Given the description of an element on the screen output the (x, y) to click on. 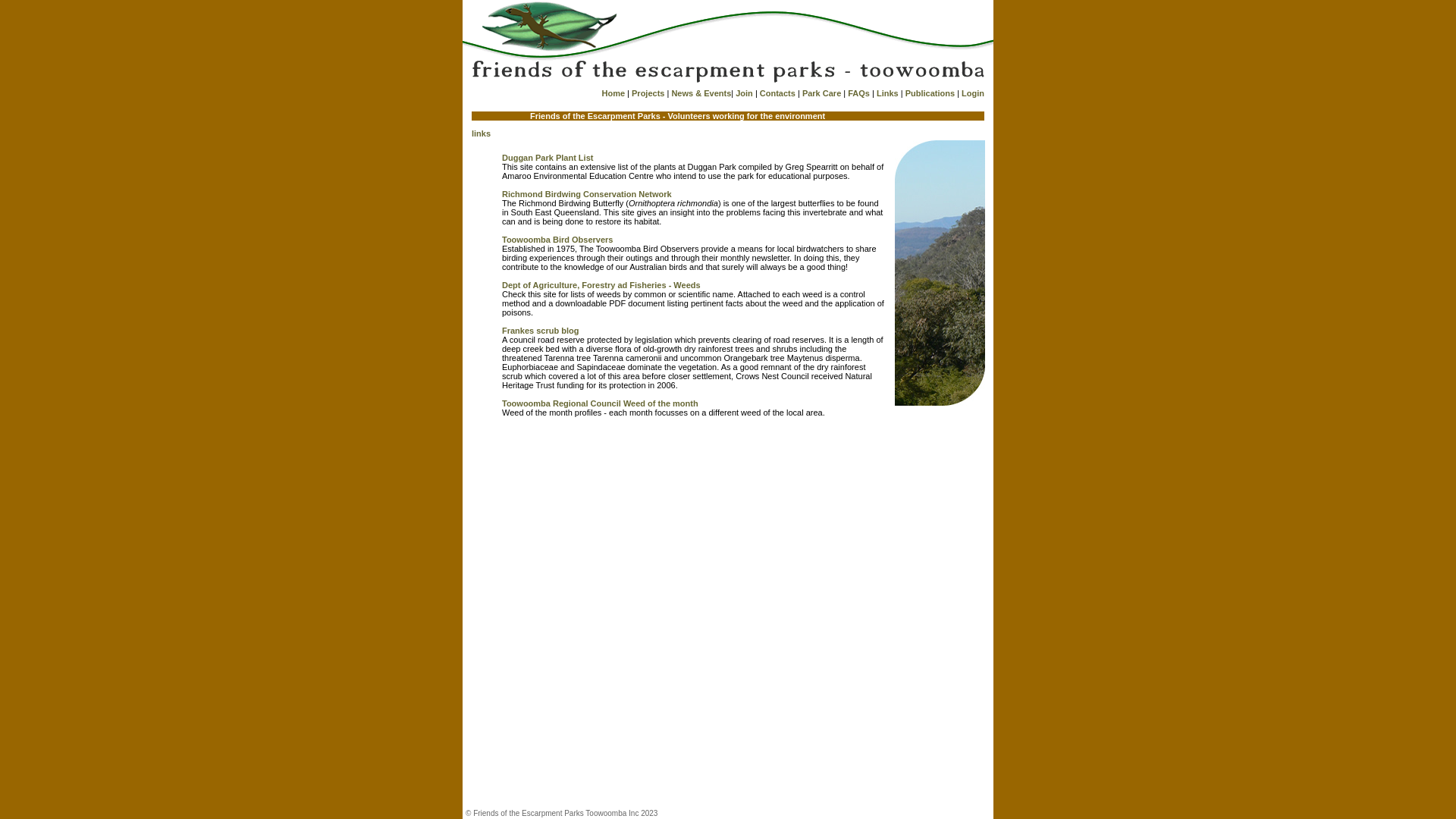
News & Events Element type: text (701, 92)
Park Care Element type: text (821, 92)
Dept of Agriculture, Forestry ad Fisheries - Weeds Element type: text (601, 284)
Links Element type: text (887, 92)
Contacts Element type: text (777, 92)
Duggan Park Plant List Element type: text (547, 157)
Toowoomba Bird Observers Element type: text (557, 239)
Richmond Birdwing Conservation Network Element type: text (586, 193)
Login Element type: text (972, 92)
FAQs Element type: text (858, 92)
Home Element type: text (612, 92)
Toowoomba Regional Council Weed of the month Element type: text (600, 402)
Publications Element type: text (929, 92)
Join Element type: text (744, 92)
Frankes scrub blog Element type: text (540, 330)
Projects Element type: text (647, 92)
